Given the description of an element on the screen output the (x, y) to click on. 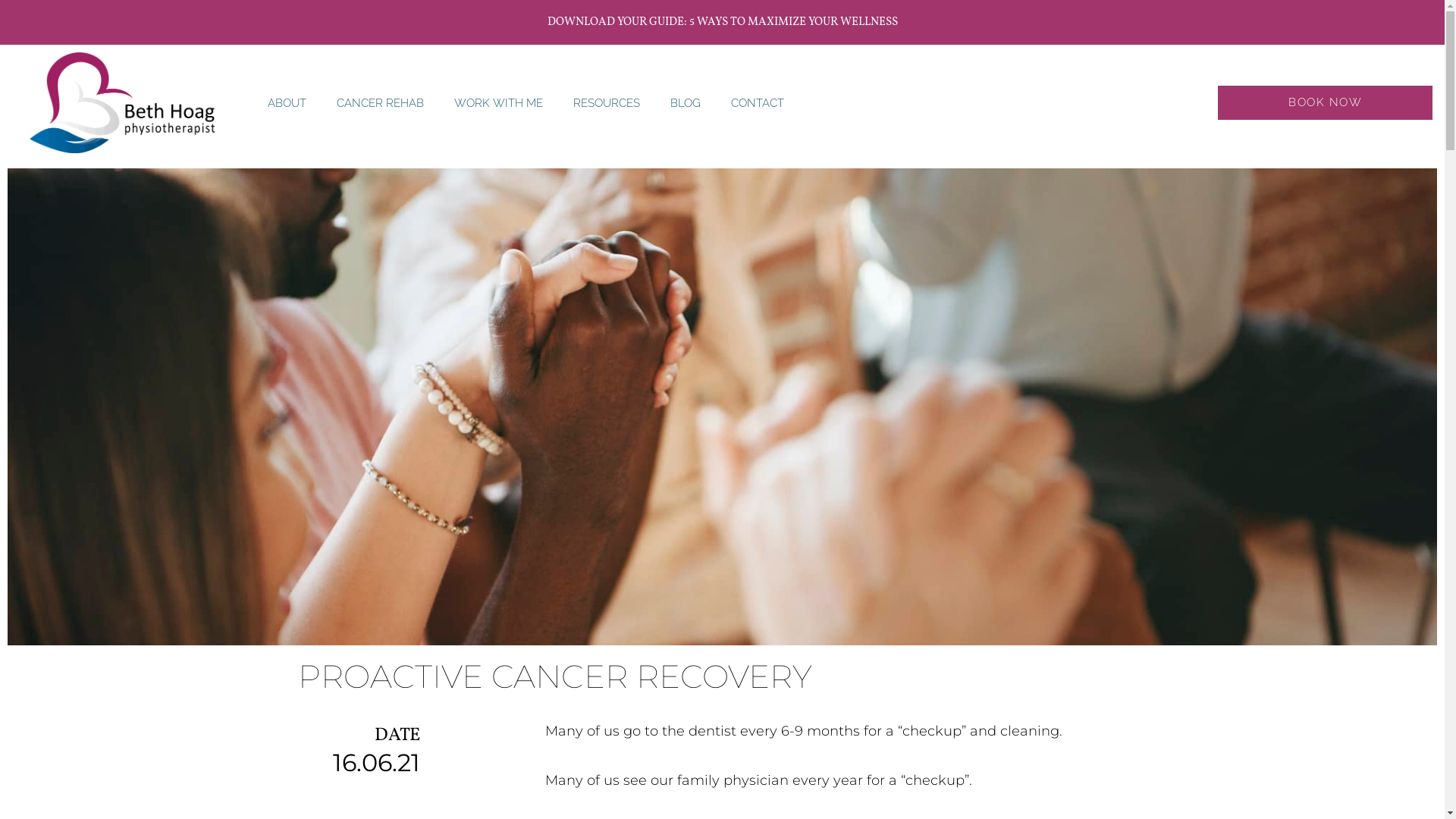
RESOURCES Element type: text (606, 102)
CANCER REHAB Element type: text (380, 102)
DOWNLOAD YOUR GUIDE: 5 WAYS TO MAXIMIZE YOUR WELLNESS Element type: text (722, 22)
ABOUT Element type: text (286, 102)
BOOK NOW Element type: text (1324, 102)
CONTACT Element type: text (757, 102)
BLOG Element type: text (685, 102)
WORK WITH ME Element type: text (498, 102)
